Given the description of an element on the screen output the (x, y) to click on. 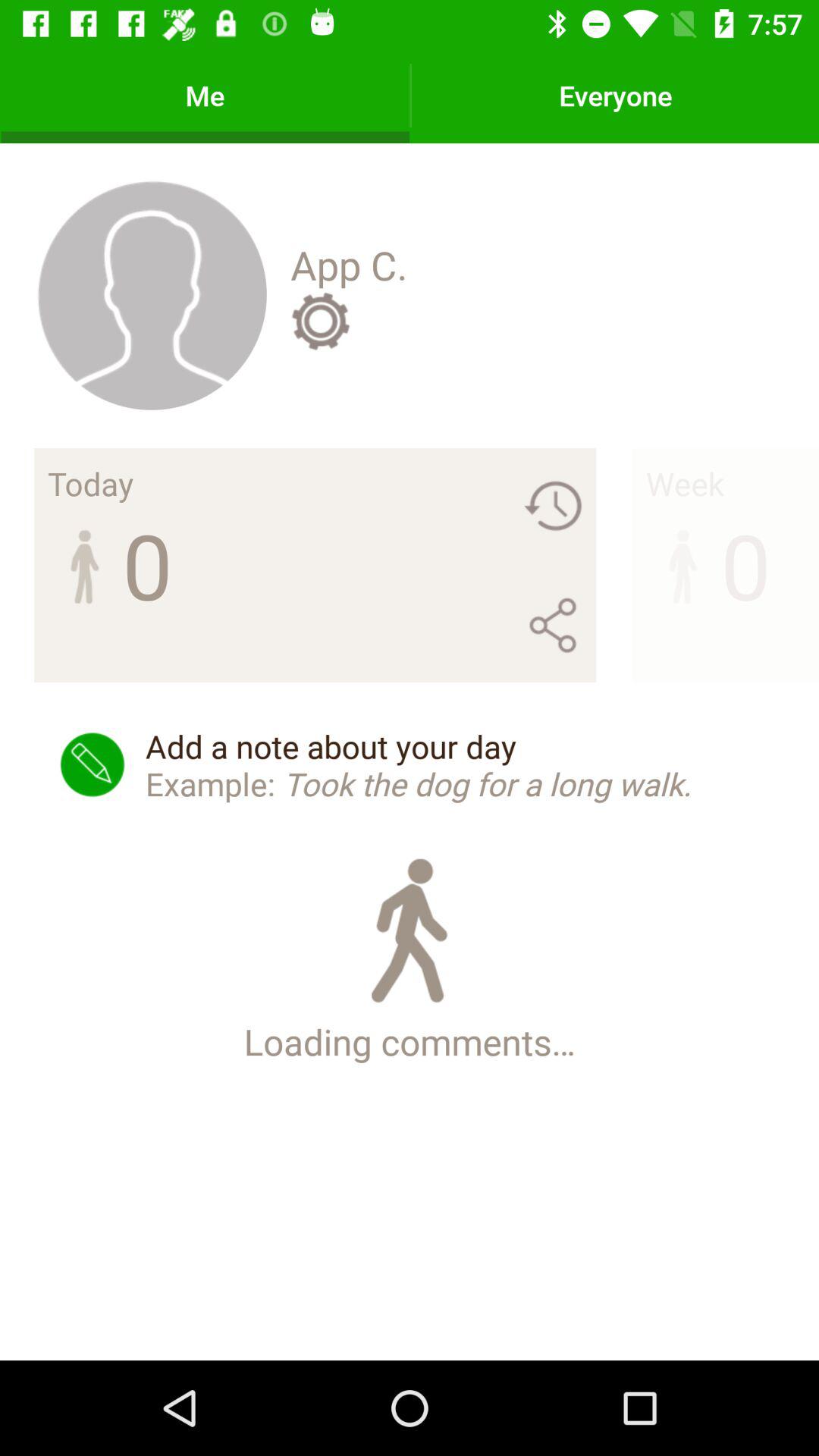
press item next to app c. icon (150, 294)
